Given the description of an element on the screen output the (x, y) to click on. 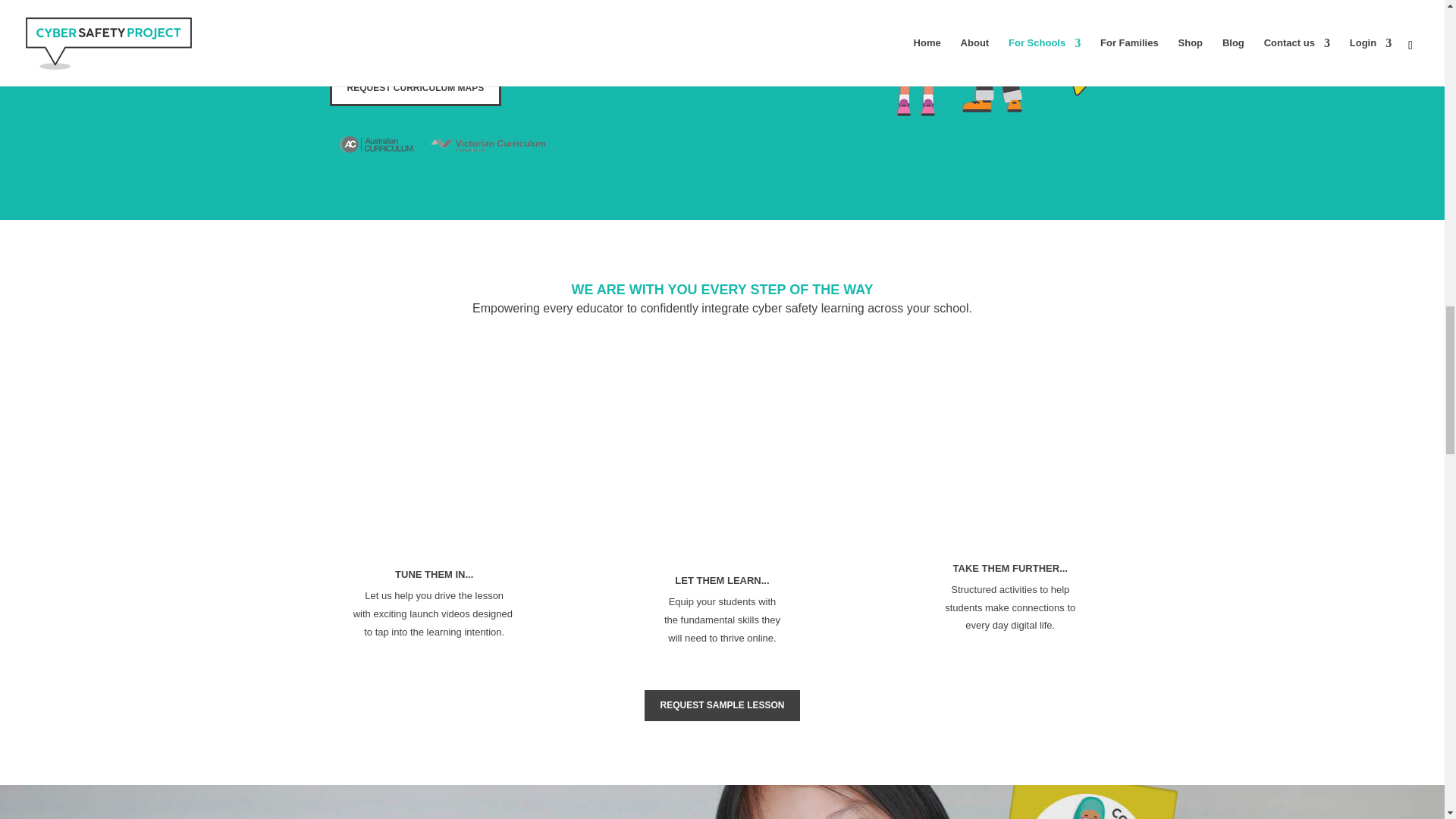
curriculum-logos (442, 142)
aus-illustration-02 (1000, 66)
